Given the description of an element on the screen output the (x, y) to click on. 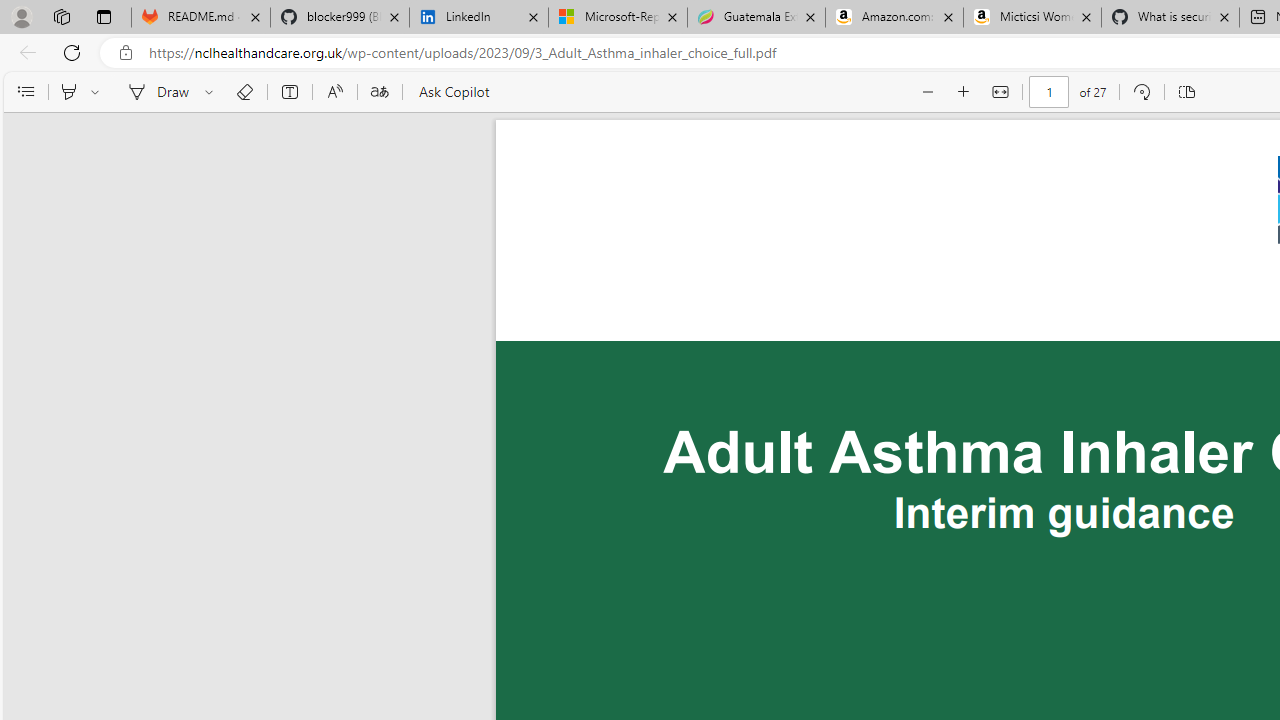
Highlight (68, 92)
Erase (244, 92)
Read aloud (334, 92)
Fit to width (Ctrl+\) (999, 92)
Translate (379, 92)
Select a highlight color (98, 92)
Rotate (Ctrl+]) (1140, 92)
Zoom in (Ctrl+Plus key) (964, 92)
Page number (1049, 92)
